Given the description of an element on the screen output the (x, y) to click on. 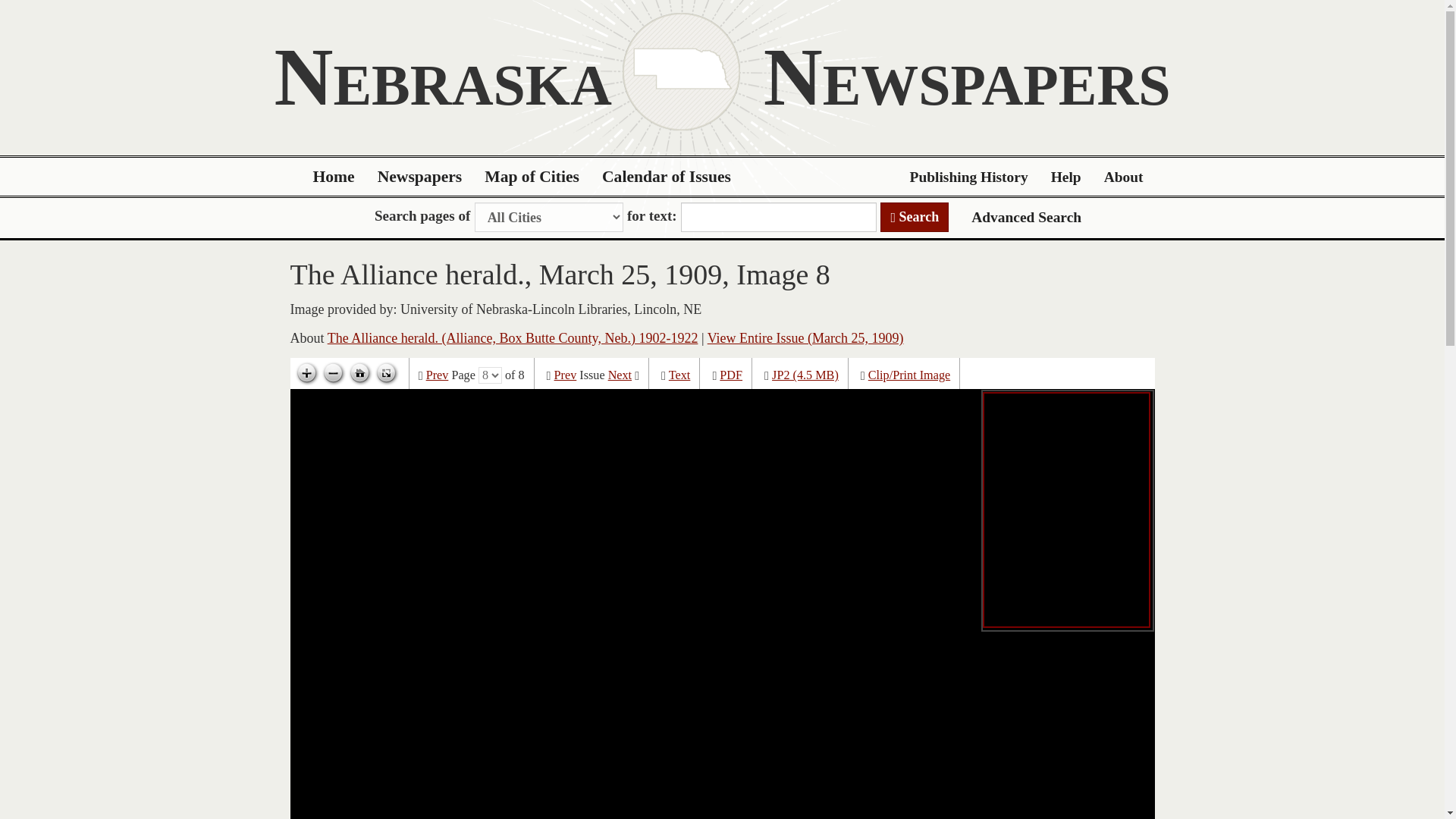
Map of Cities (532, 176)
Prev (437, 375)
Advanced Search (1026, 216)
Next (619, 375)
Go home (359, 373)
Prev (565, 375)
Toggle full page (385, 373)
About (1123, 176)
Search (914, 217)
Calendar of Issues (666, 176)
Help (1066, 176)
Newspapers (420, 176)
Zoom out (333, 373)
Zoom in (307, 373)
PDF (730, 375)
